Given the description of an element on the screen output the (x, y) to click on. 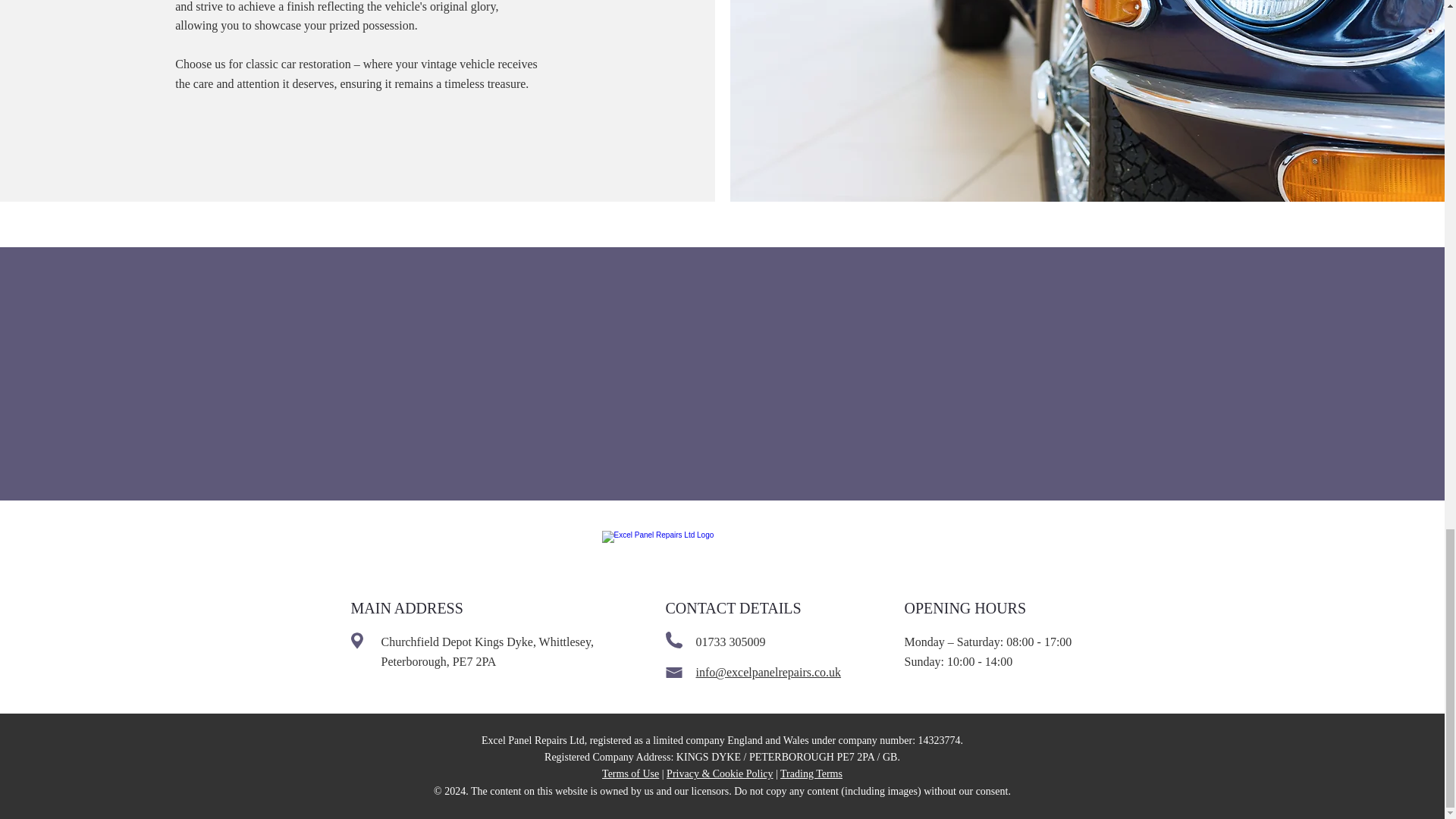
Terms of Use (630, 773)
Trading Terms (811, 773)
